Given the description of an element on the screen output the (x, y) to click on. 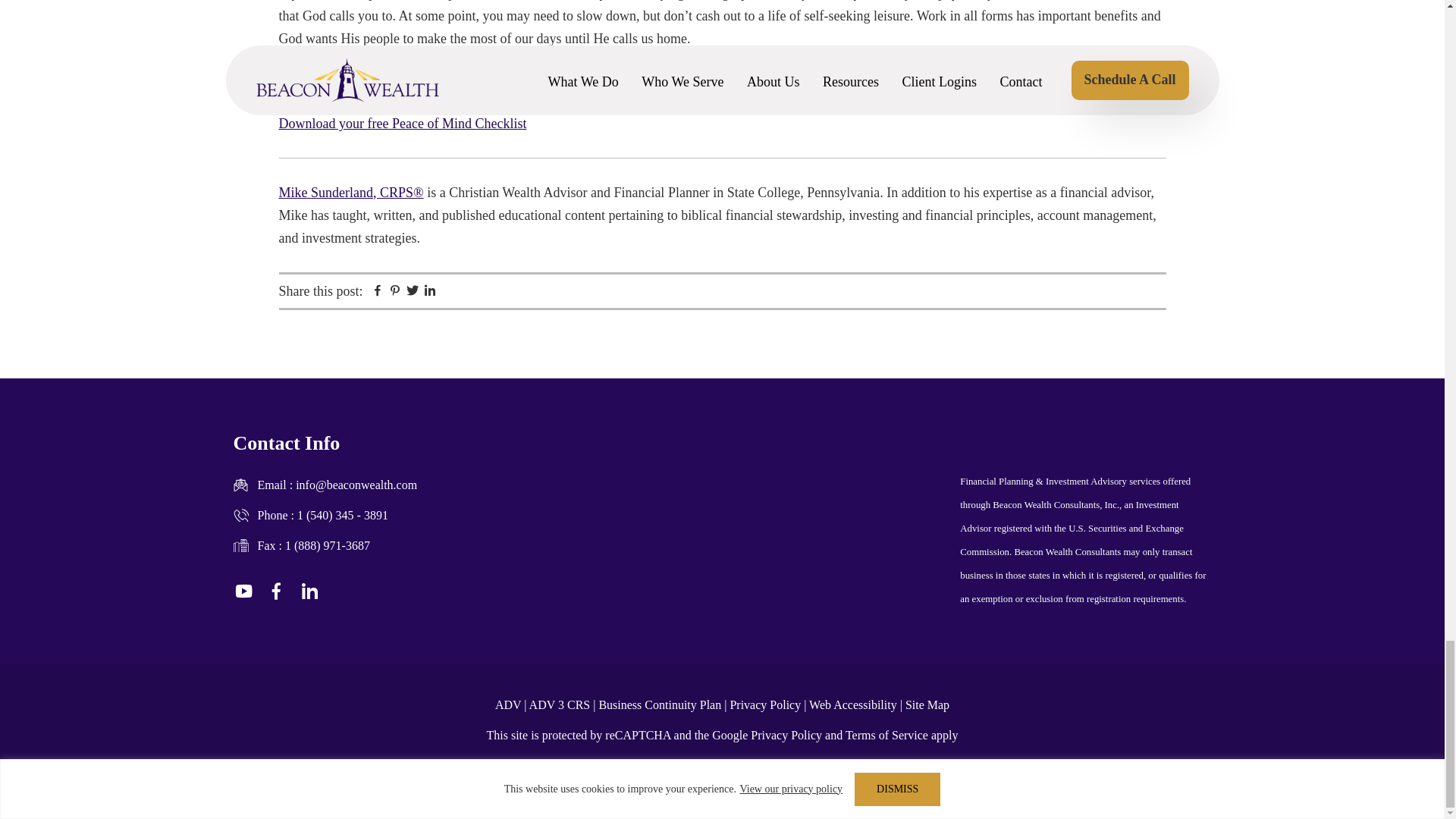
Share on Facebook (376, 292)
Share on Twitter (411, 292)
Share on Linkedin (429, 292)
Pin on Pinterest (394, 292)
